Given the description of an element on the screen output the (x, y) to click on. 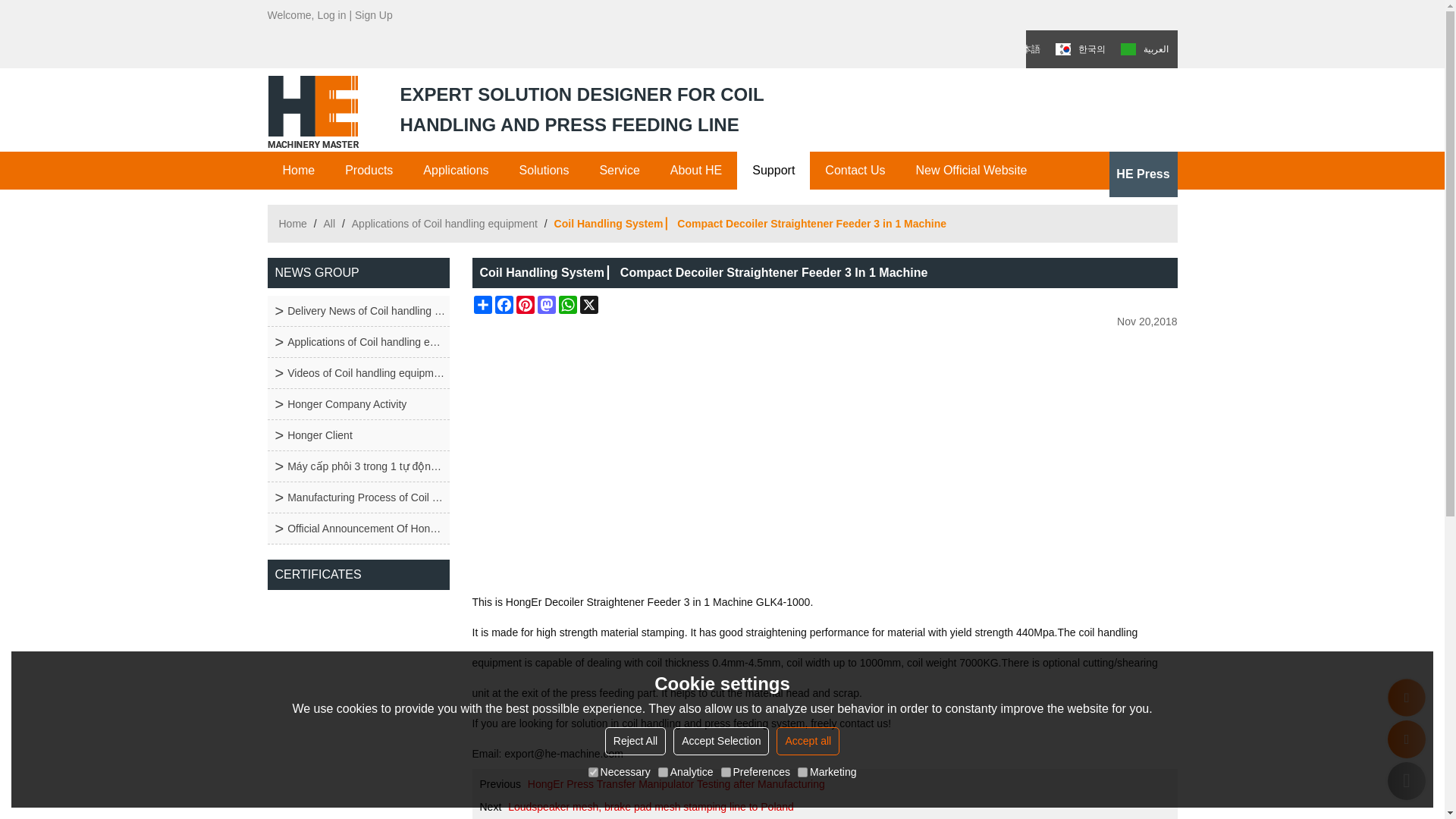
Sign Up (374, 15)
Applications (455, 170)
English (971, 15)
on (663, 772)
on (725, 772)
Service (618, 170)
Log in (331, 15)
Home (298, 170)
on (593, 772)
About HE (695, 170)
Products (368, 170)
Solutions (544, 170)
on (802, 772)
